Given the description of an element on the screen output the (x, y) to click on. 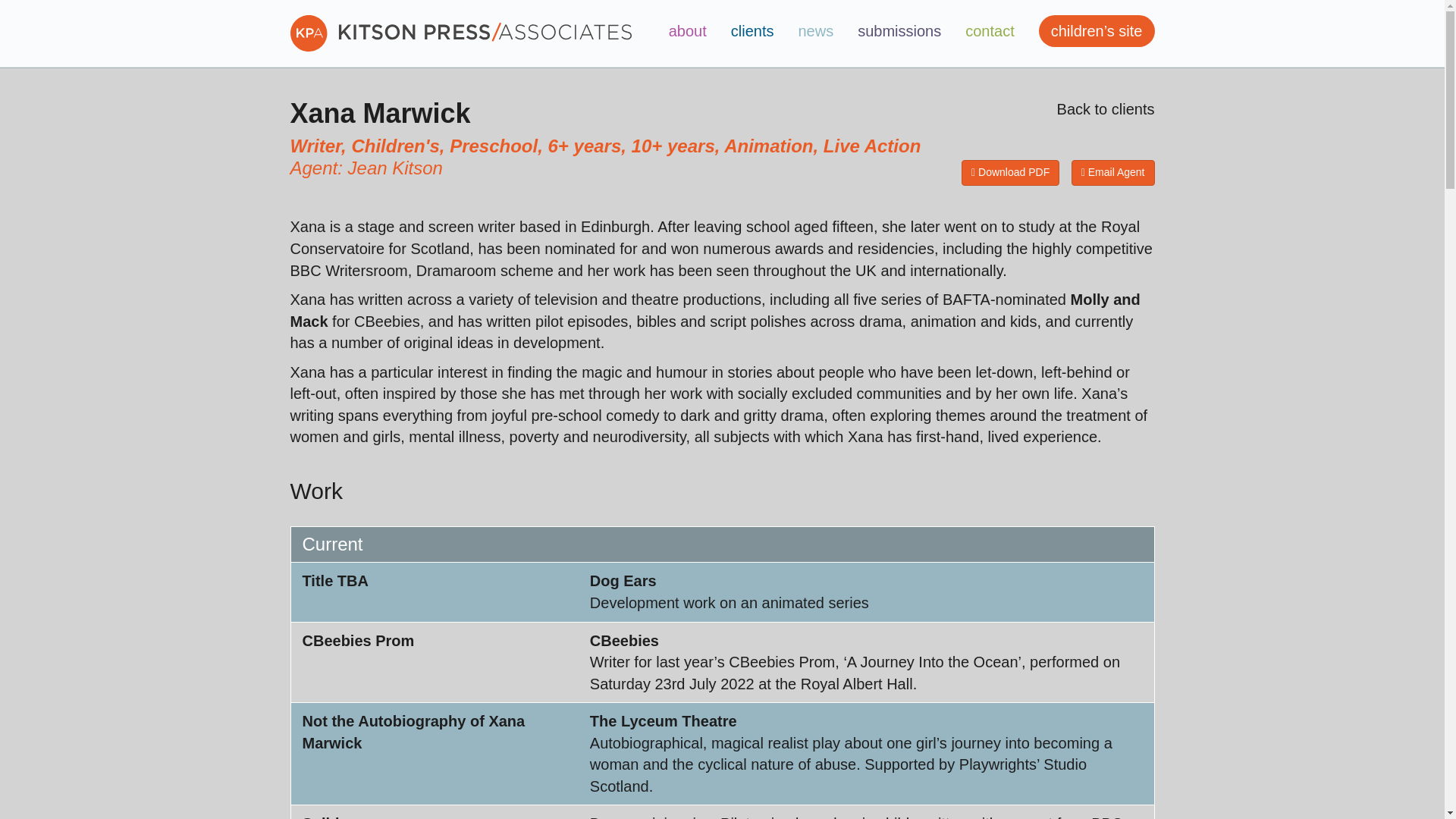
Back to clients (1105, 109)
news (815, 30)
contact (989, 30)
contact (989, 30)
submissions (899, 30)
Download PDF (1009, 172)
clients (752, 30)
news (815, 30)
about (687, 30)
clients (752, 30)
submissions (899, 30)
Email Agent (1112, 172)
children's site (1096, 30)
about (687, 30)
